Given the description of an element on the screen output the (x, y) to click on. 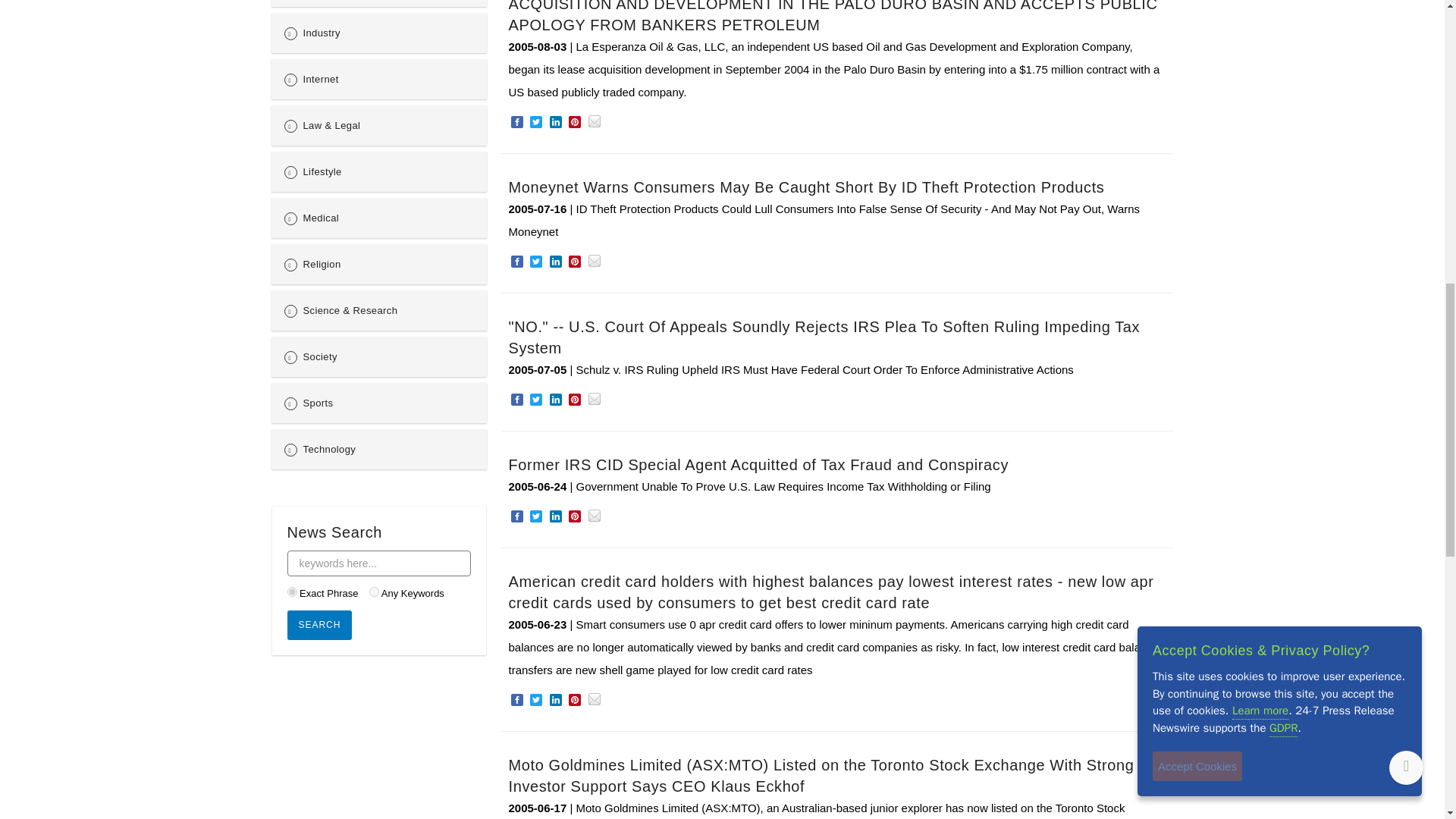
E (291, 592)
SEARCH (319, 624)
N (373, 592)
